Given the description of an element on the screen output the (x, y) to click on. 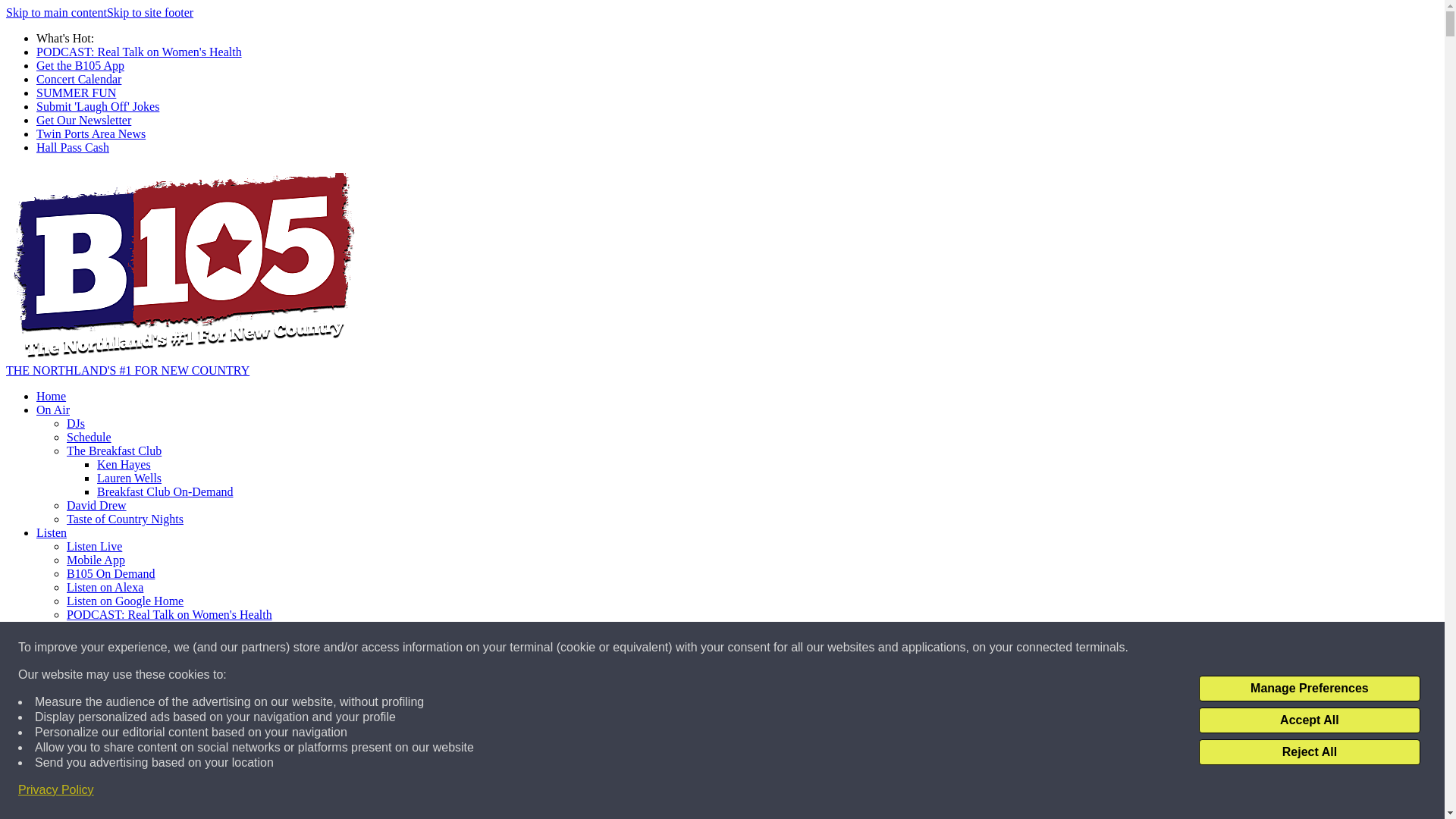
PODCAST: Real Talk on Women's Health (169, 614)
DJs (75, 422)
Taste of Country Nights (124, 518)
Accept All (1309, 720)
Get the B105 App (79, 65)
Download for Android (121, 668)
Privacy Policy (55, 789)
Hall Pass Cash (72, 146)
Listen (51, 532)
Breakfast Club On-Demand (164, 491)
Get Our Newsletter (83, 119)
B105 On Demand (110, 573)
Listen Live (94, 545)
PODCAST: Real Talk on Women's Health (138, 51)
Lauren Wells (129, 477)
